Given the description of an element on the screen output the (x, y) to click on. 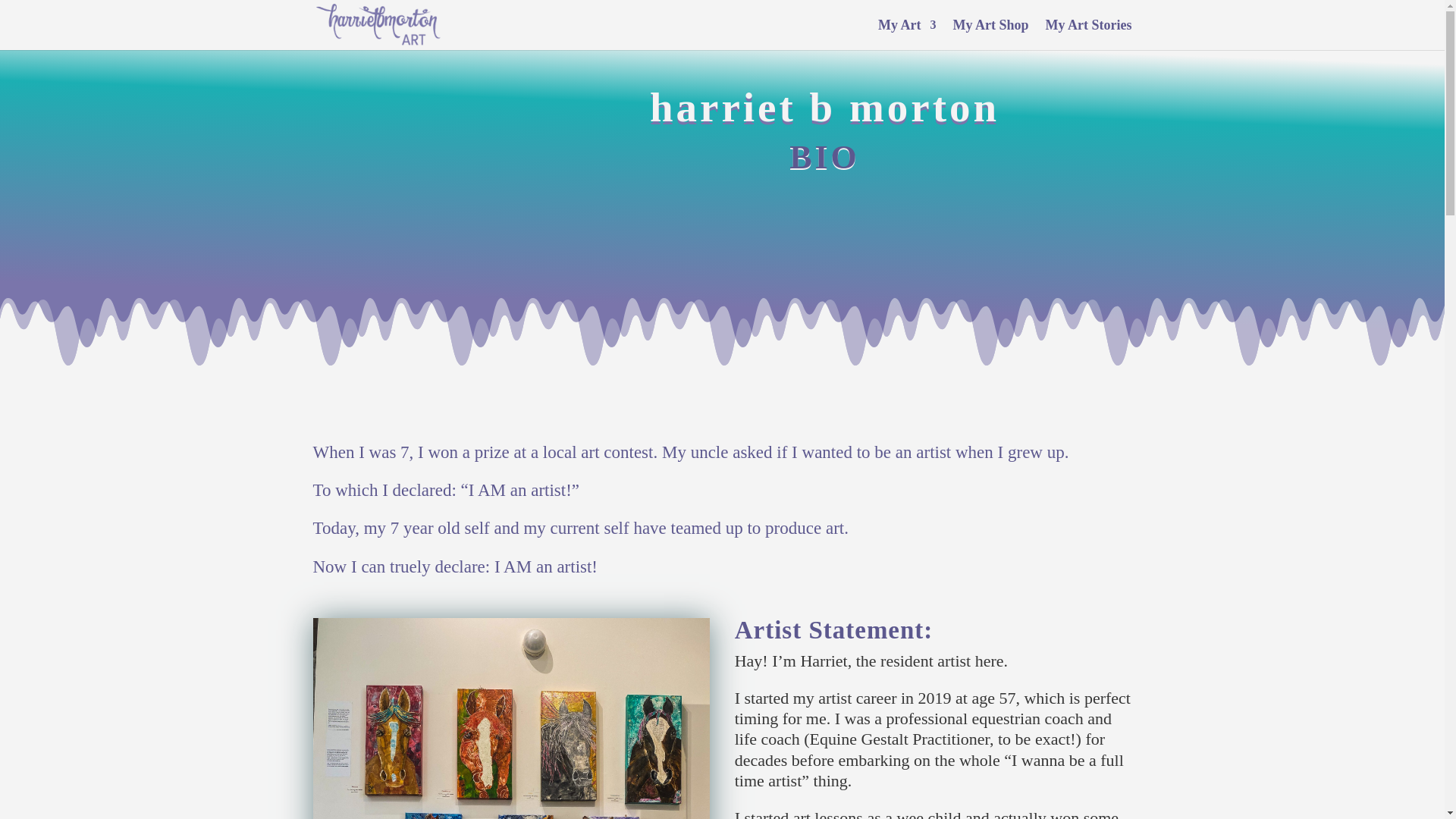
My Art Shop (991, 34)
HarrietESPGallery (511, 718)
My Art Stories (1088, 34)
My Art (906, 34)
